Given the description of an element on the screen output the (x, y) to click on. 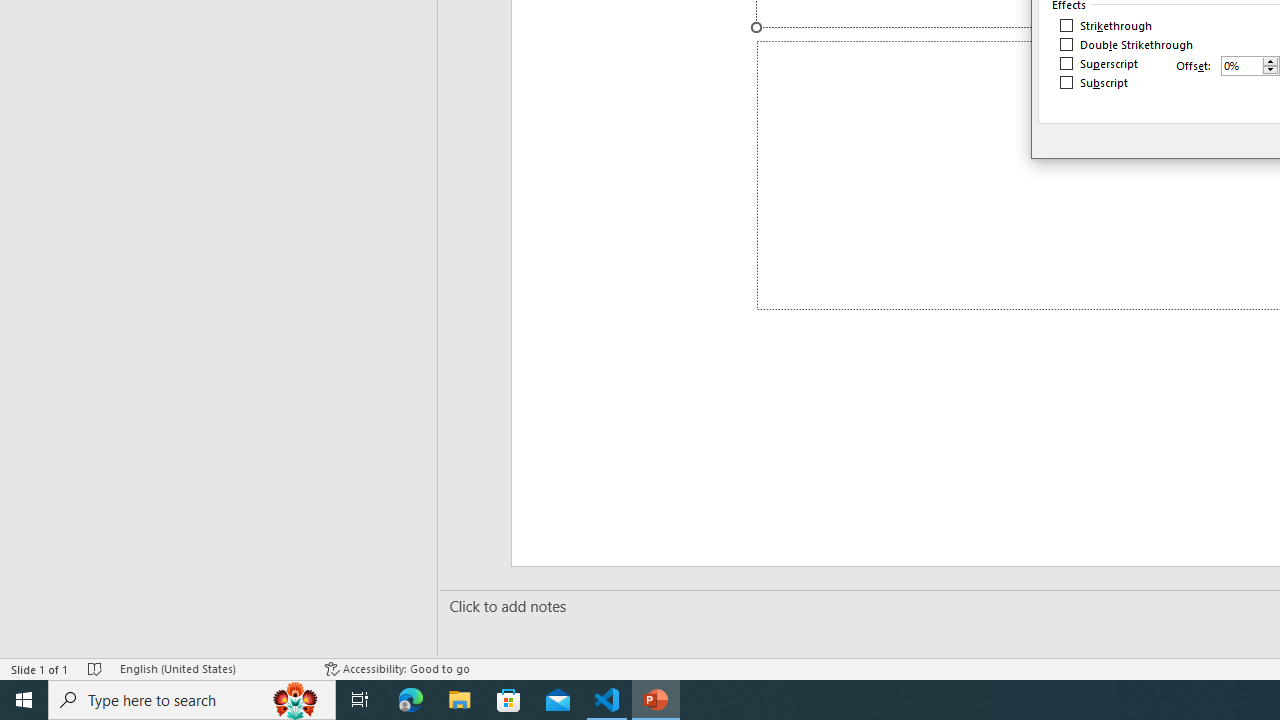
PowerPoint - 1 running window (656, 699)
Strikethrough (1106, 25)
Superscript (1099, 64)
Microsoft Store (509, 699)
Search highlights icon opens search home window (295, 699)
More (1270, 61)
Type here to search (191, 699)
Visual Studio Code - 1 running window (607, 699)
File Explorer (460, 699)
Accessibility Checker Accessibility: Good to go (397, 668)
Microsoft Edge (411, 699)
Task View (359, 699)
Subscript (1094, 82)
